Given the description of an element on the screen output the (x, y) to click on. 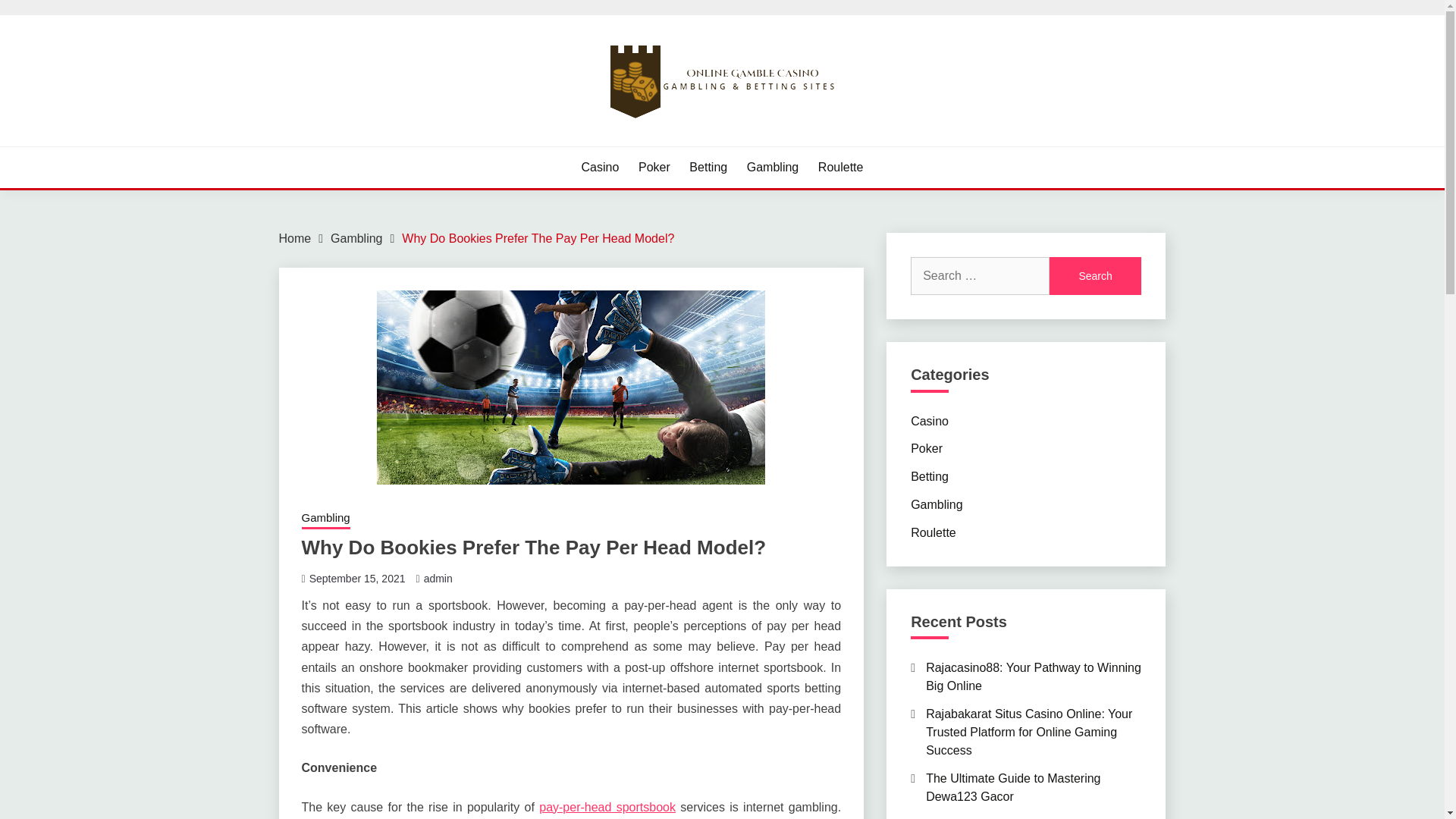
Search (1095, 275)
Betting (707, 167)
September 15, 2021 (357, 578)
Roulette (933, 532)
Gambling (771, 167)
ONLINE GAMBLE CASINO (453, 143)
Casino (930, 420)
Search (1095, 275)
Why Do Bookies Prefer The Pay Per Head Model? (537, 237)
Poker (654, 167)
admin (437, 578)
Rajacasino88: Your Pathway to Winning Big Online (1033, 676)
Betting (930, 476)
